Given the description of an element on the screen output the (x, y) to click on. 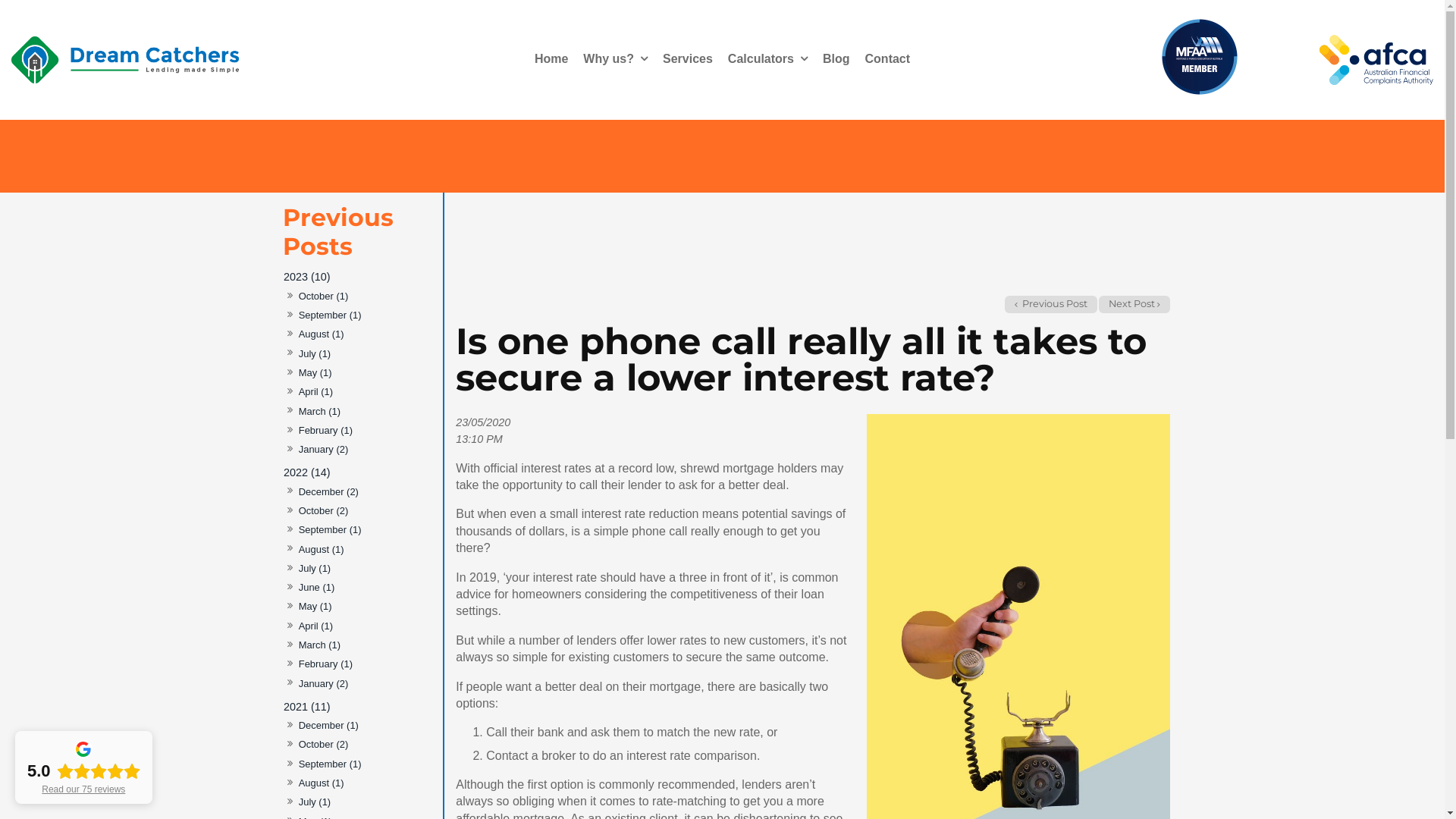
Services Element type: text (687, 59)
December (1) Element type: text (328, 725)
September (1) Element type: text (329, 315)
2021 (11) Element type: text (358, 706)
July (1) Element type: text (314, 568)
March (1) Element type: text (319, 645)
September (1) Element type: text (329, 763)
April (1) Element type: text (315, 625)
October (2) Element type: text (322, 744)
February (1) Element type: text (325, 430)
Blog Element type: text (836, 59)
August (1) Element type: text (320, 549)
Home Element type: text (551, 59)
March (1) Element type: text (319, 411)
June (1) Element type: text (316, 587)
July (1) Element type: text (314, 802)
December (2) Element type: text (328, 491)
Previous Post Element type: text (1050, 304)
April (1) Element type: text (315, 392)
October (2) Element type: text (322, 511)
February (1) Element type: text (325, 664)
August (1) Element type: text (320, 783)
Contact Element type: text (887, 59)
October (1) Element type: text (322, 296)
August (1) Element type: text (320, 334)
Why us? Element type: text (615, 59)
Calculators Element type: text (767, 59)
September (1) Element type: text (329, 530)
January (2) Element type: text (322, 449)
2022 (14) Element type: text (358, 472)
May (1) Element type: text (314, 606)
January (2) Element type: text (322, 683)
May (1) Element type: text (314, 373)
Next Post Element type: text (1134, 304)
July (1) Element type: text (314, 353)
2023 (10) Element type: text (358, 276)
